Given the description of an element on the screen output the (x, y) to click on. 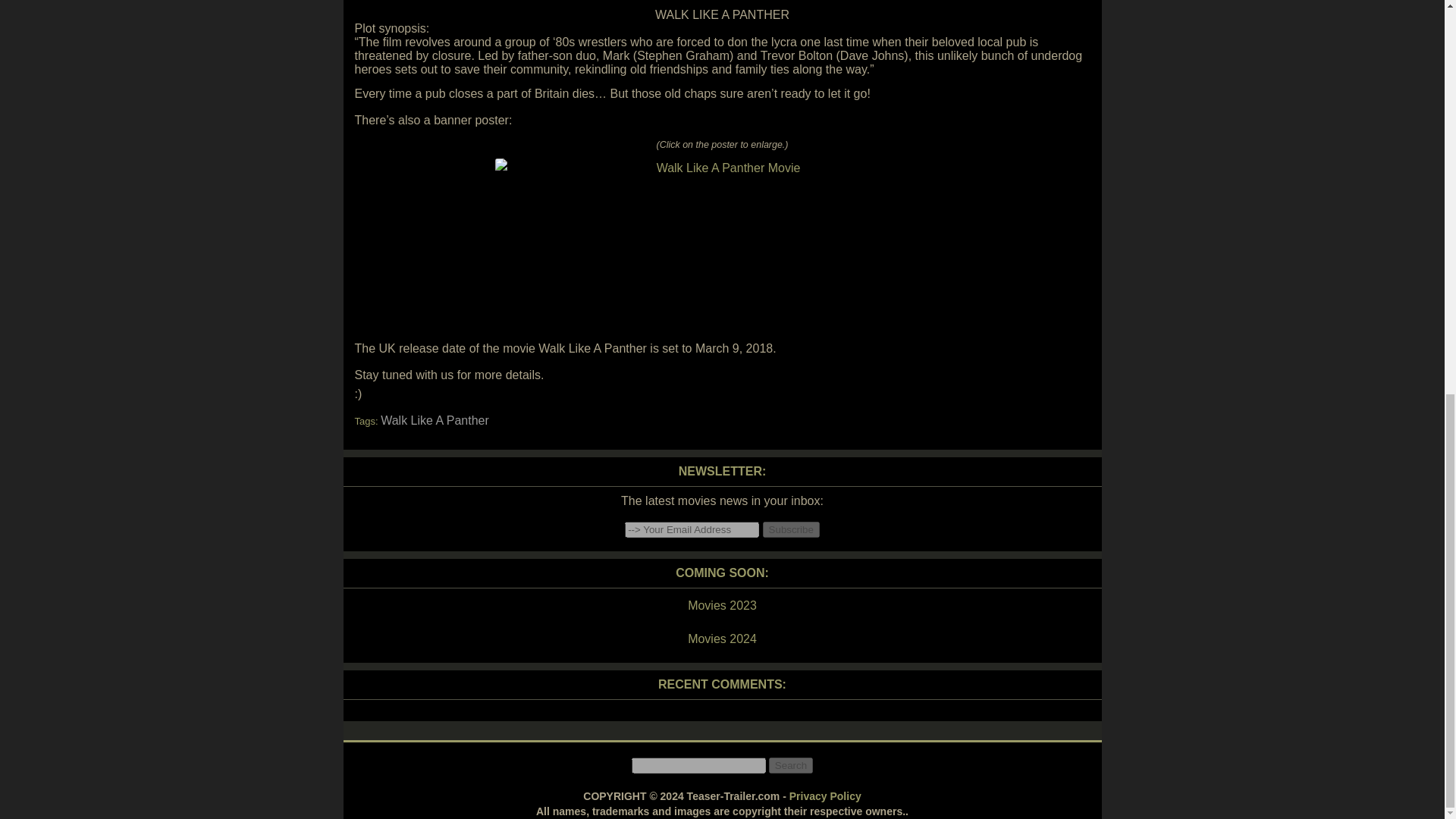
Movies 2023 (721, 605)
Walk Like A Panther (434, 420)
Search (790, 765)
Privacy Policy (825, 796)
Subscribe (790, 529)
Search (790, 765)
Movies 2024 (721, 639)
Subscribe (790, 529)
